Given the description of an element on the screen output the (x, y) to click on. 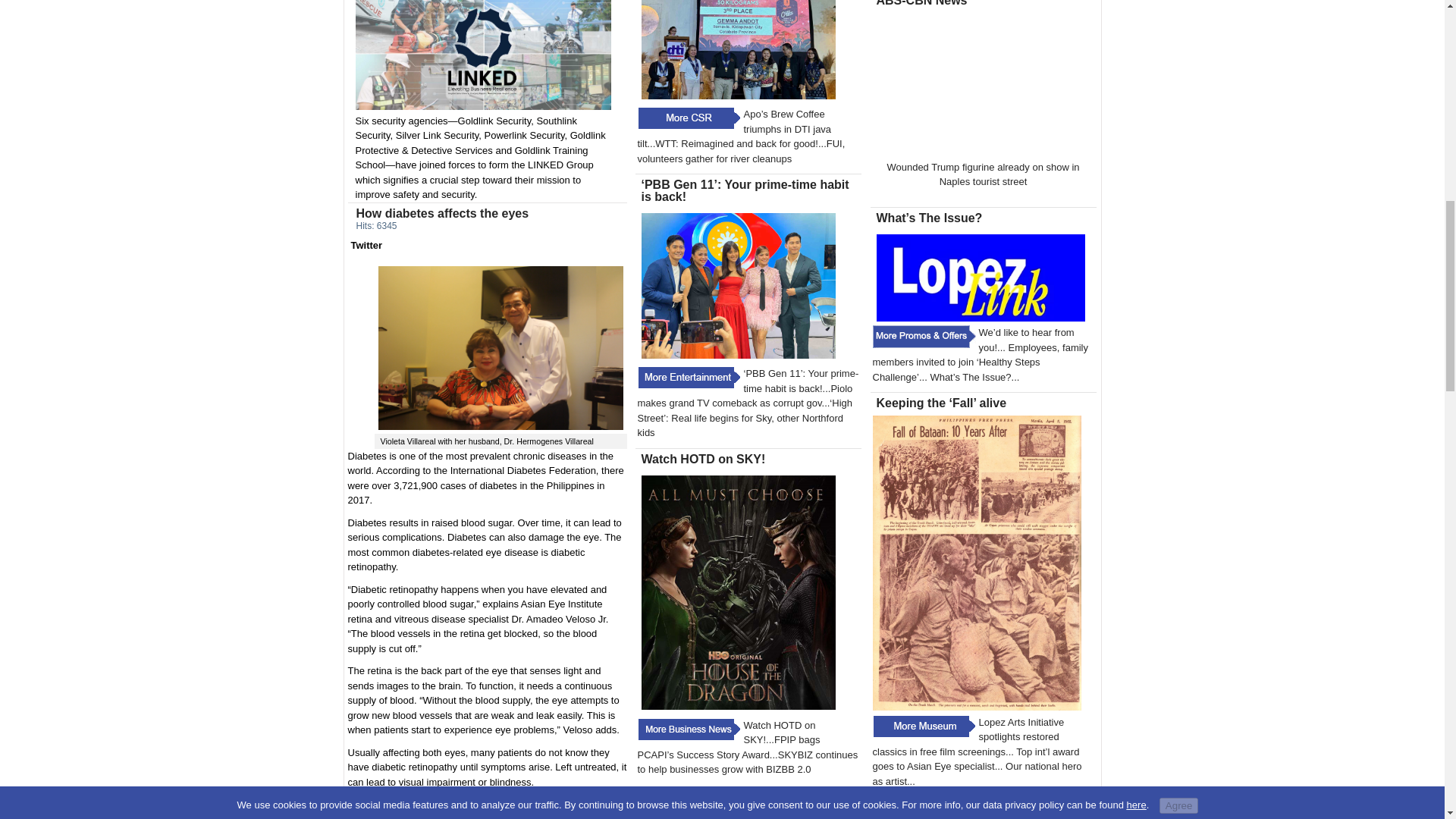
Violeta Villareal with her husband, Dr. Hermogenes Villareal (500, 348)
